Given the description of an element on the screen output the (x, y) to click on. 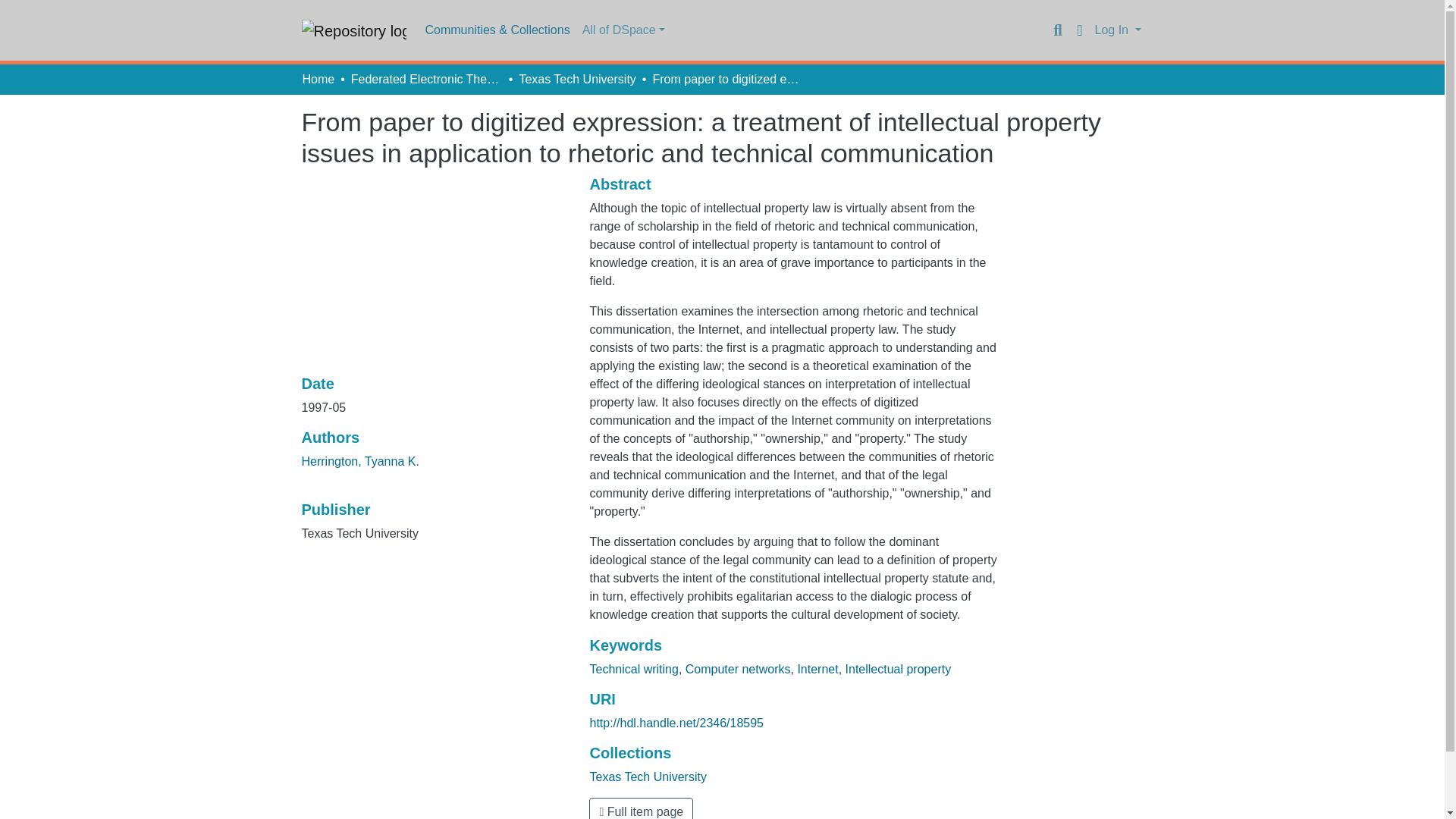
Federated Electronic Theses and Dissertations (426, 79)
Log In (1117, 30)
Internet (817, 668)
All of DSpace (623, 30)
Computer networks (737, 668)
Technical writing (633, 668)
Search (1057, 30)
Language switch (1079, 30)
Home (317, 79)
Texas Tech University (647, 776)
